Given the description of an element on the screen output the (x, y) to click on. 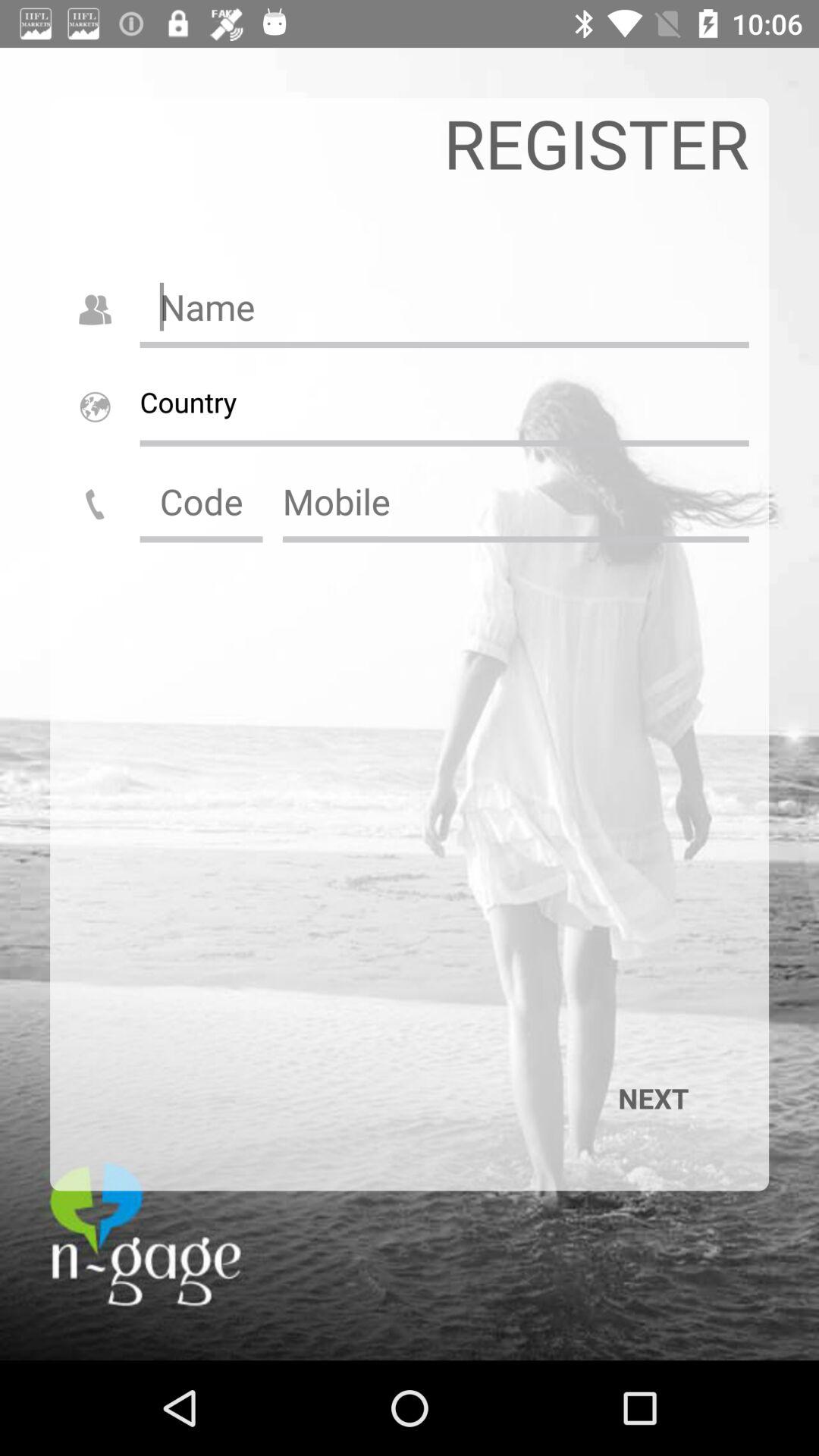
enter mobile number (515, 501)
